Given the description of an element on the screen output the (x, y) to click on. 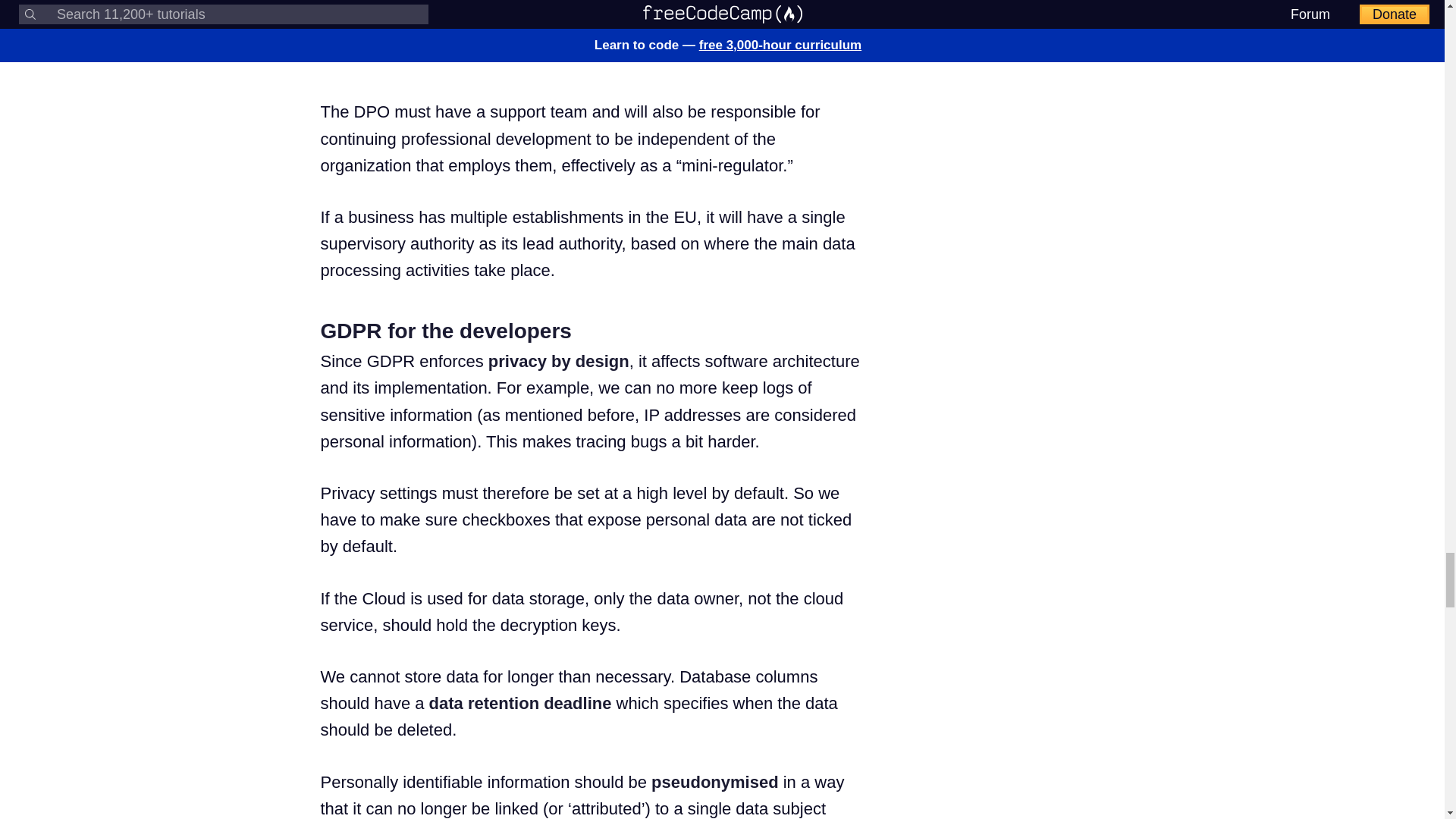
mandates a DPIA (604, 4)
